Given the description of an element on the screen output the (x, y) to click on. 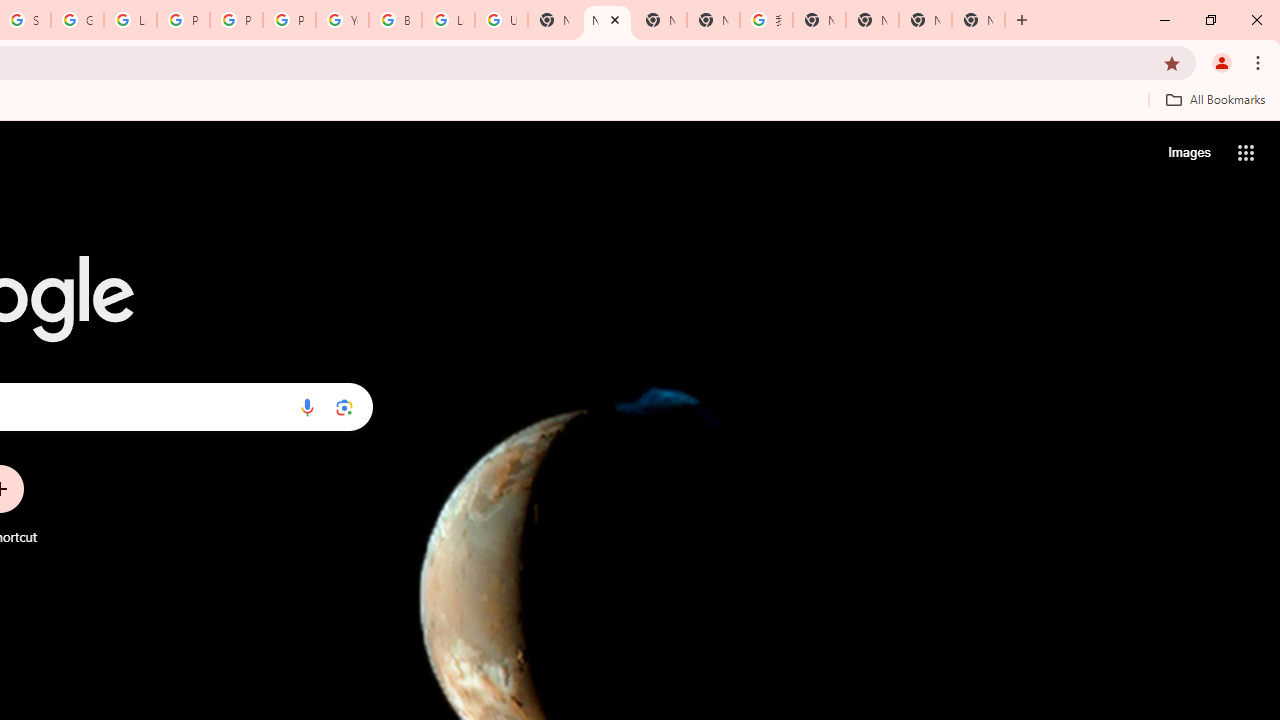
Privacy Help Center - Policies Help (235, 20)
New Tab (607, 20)
Close (614, 19)
Privacy Help Center - Policies Help (183, 20)
YouTube (342, 20)
Google apps (1245, 152)
Search by voice (307, 407)
All Bookmarks (1215, 99)
